Given the description of an element on the screen output the (x, y) to click on. 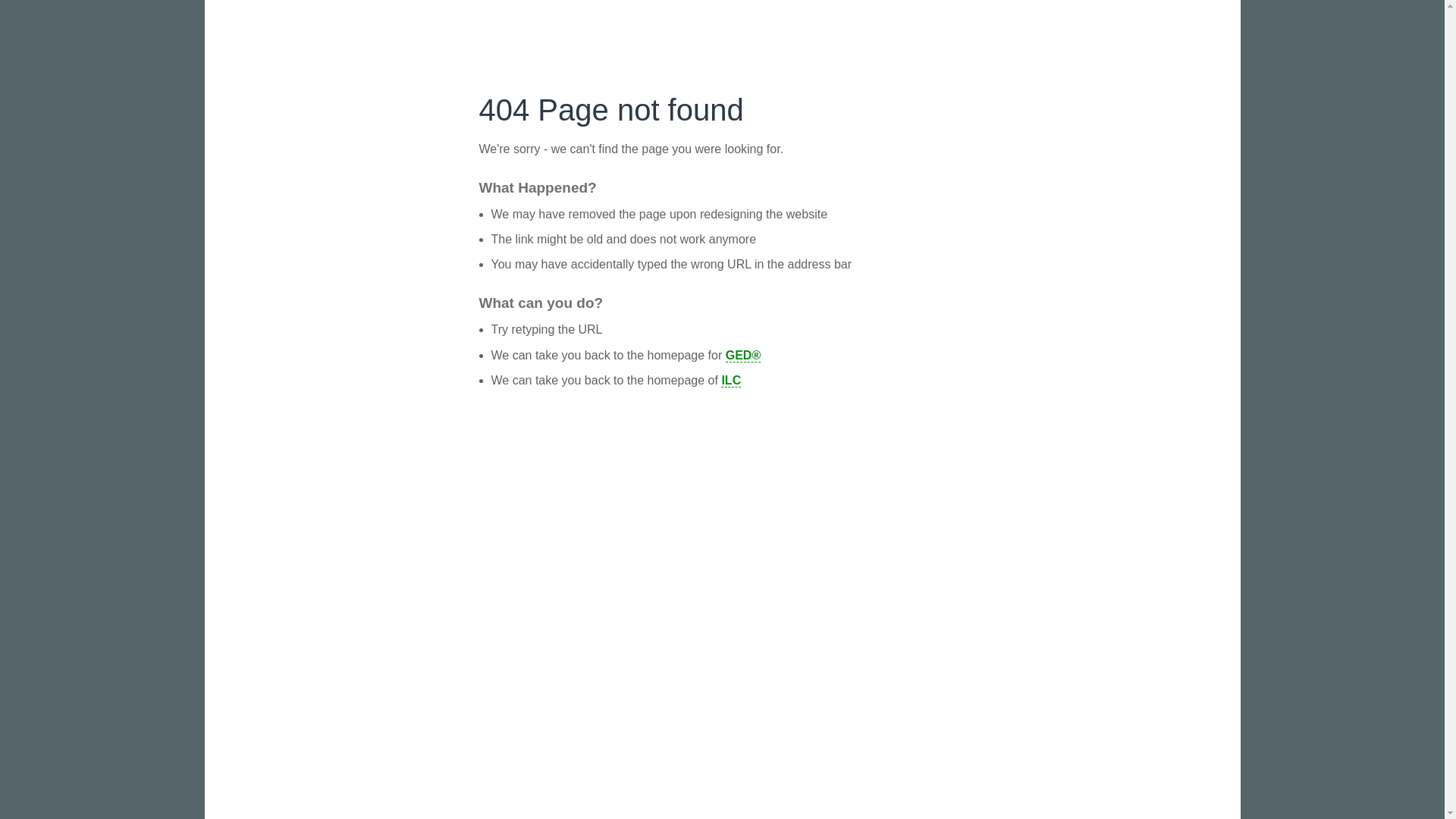
ILC (730, 380)
